Given the description of an element on the screen output the (x, y) to click on. 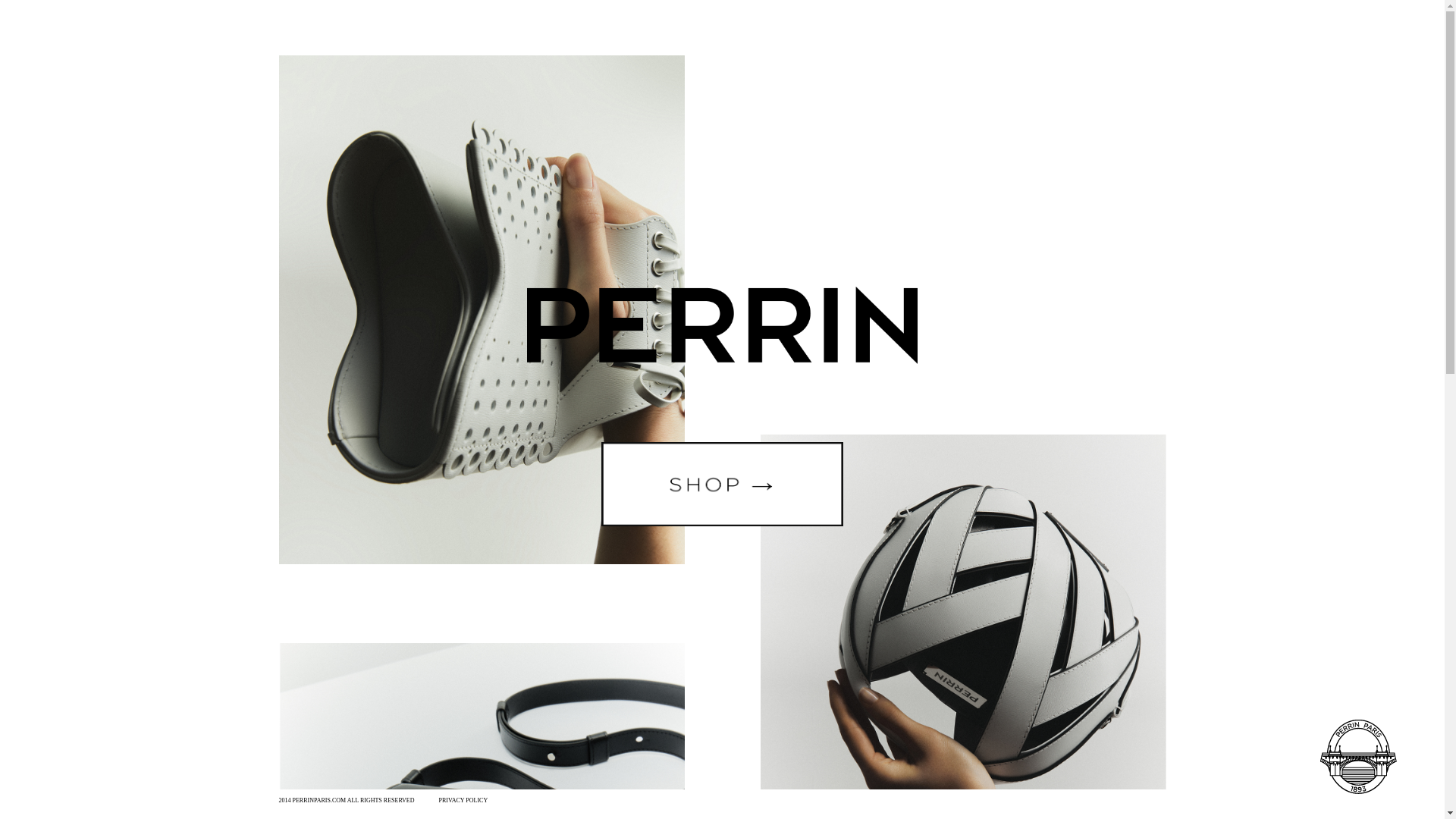
2014 PERRINPARIS.COM ALL RIGHTS RESERVED (346, 799)
PRIVACY POLICY (463, 799)
